Given the description of an element on the screen output the (x, y) to click on. 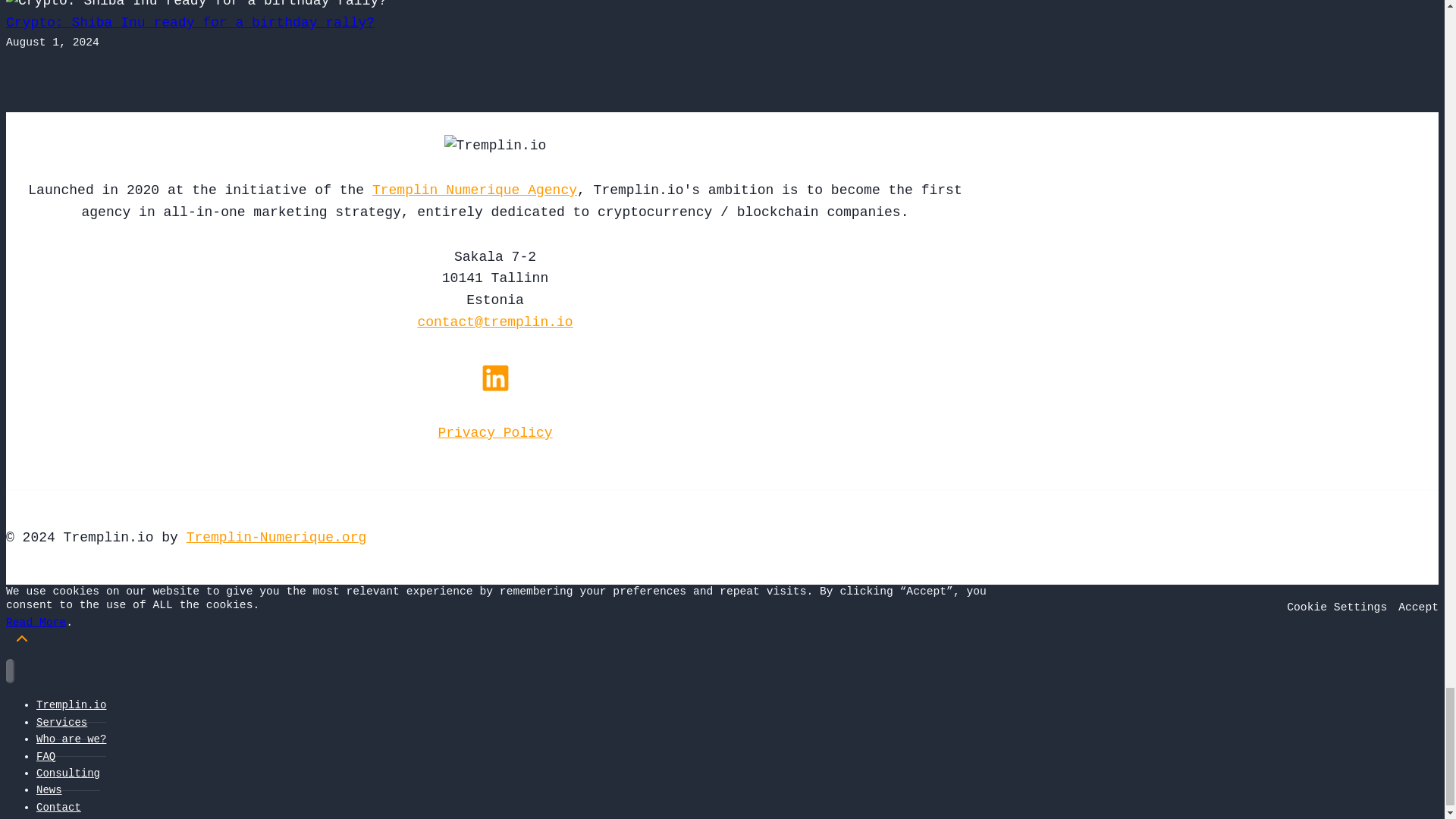
Scroll to top (21, 638)
Scroll to top (21, 643)
Crypto: Shiba Inu ready for a birthday rally? (189, 22)
Read More (35, 622)
Privacy Policy (494, 432)
Linkedin (494, 377)
Tremplin Numerique Agency (474, 190)
Tremplin-Numerique.org (276, 537)
Cookie Settings (1337, 607)
